Given the description of an element on the screen output the (x, y) to click on. 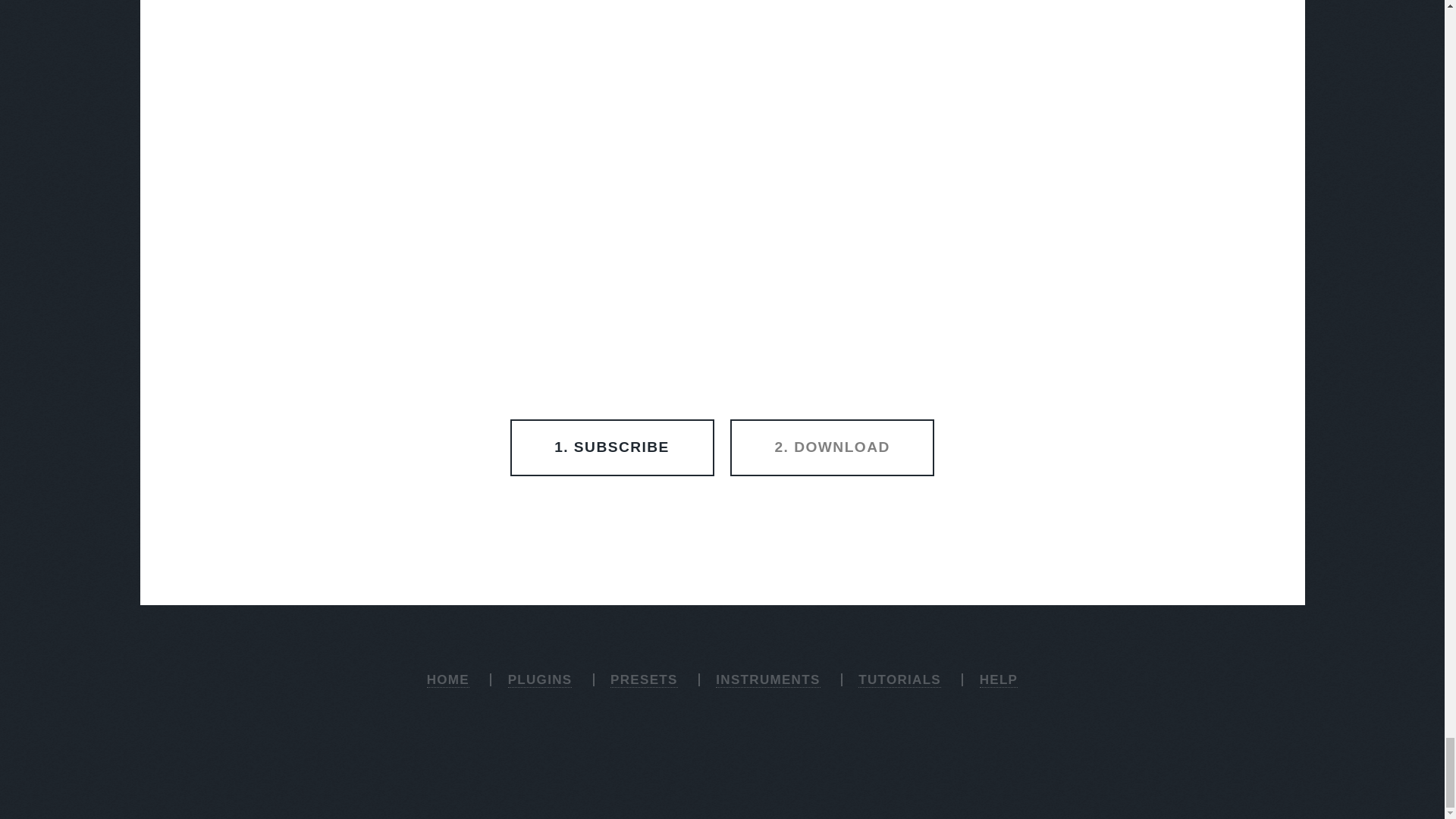
INSTRUMENTS (767, 679)
PRESETS (644, 679)
HELP (998, 679)
HOME (447, 679)
PLUGINS (540, 679)
2. DOWNLOAD (832, 447)
TUTORIALS (899, 679)
1. SUBSCRIBE (612, 447)
